Given the description of an element on the screen output the (x, y) to click on. 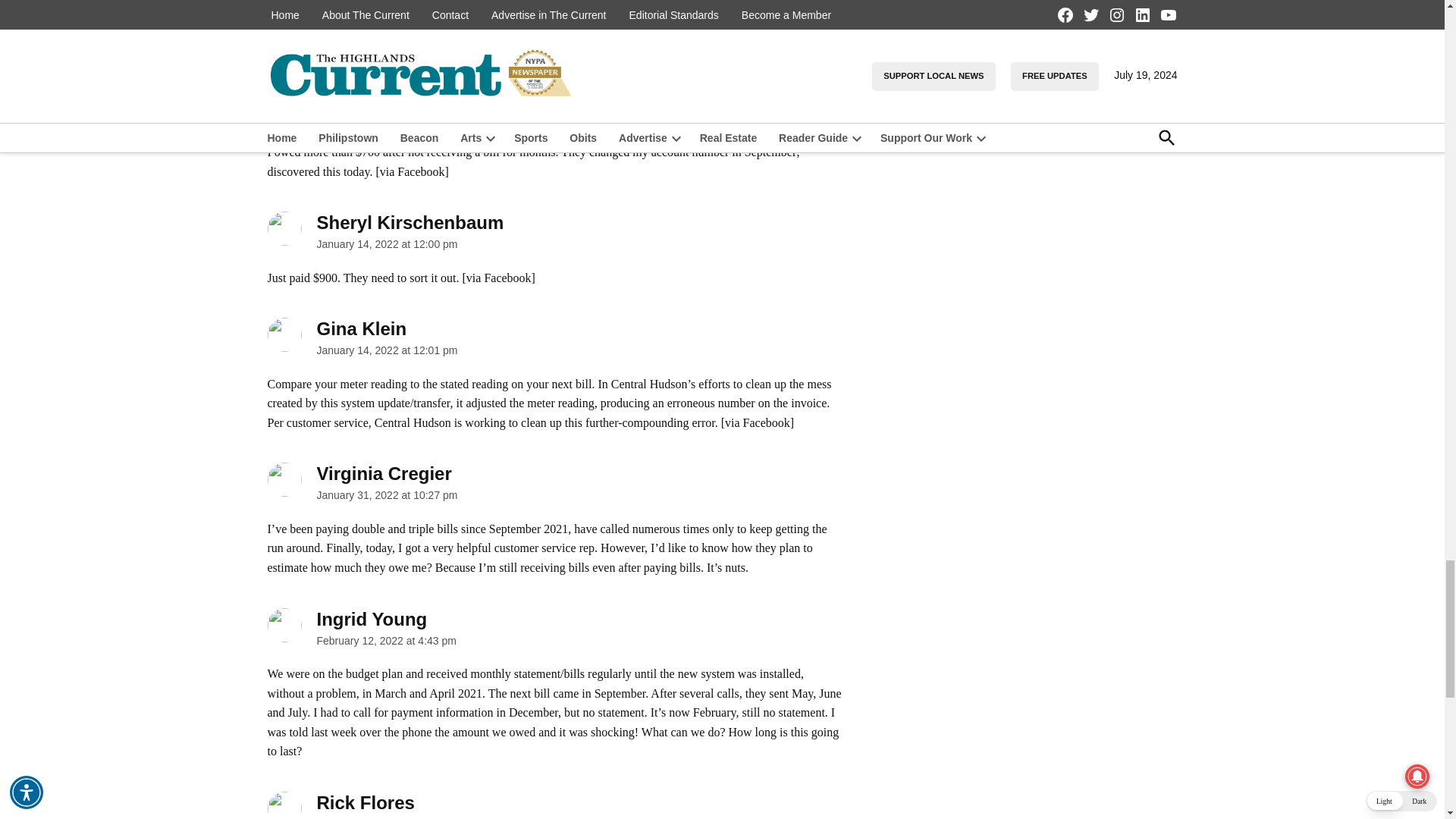
January 14, 2022 at 12:00 pm (387, 244)
January 31, 2022 at 10:27 pm (387, 494)
January 14, 2022 at 12:00 pm (387, 119)
January 14, 2022 at 11:59 am (387, 12)
February 12, 2022 at 4:43 pm (387, 640)
January 14, 2022 at 12:01 pm (387, 349)
